Given the description of an element on the screen output the (x, y) to click on. 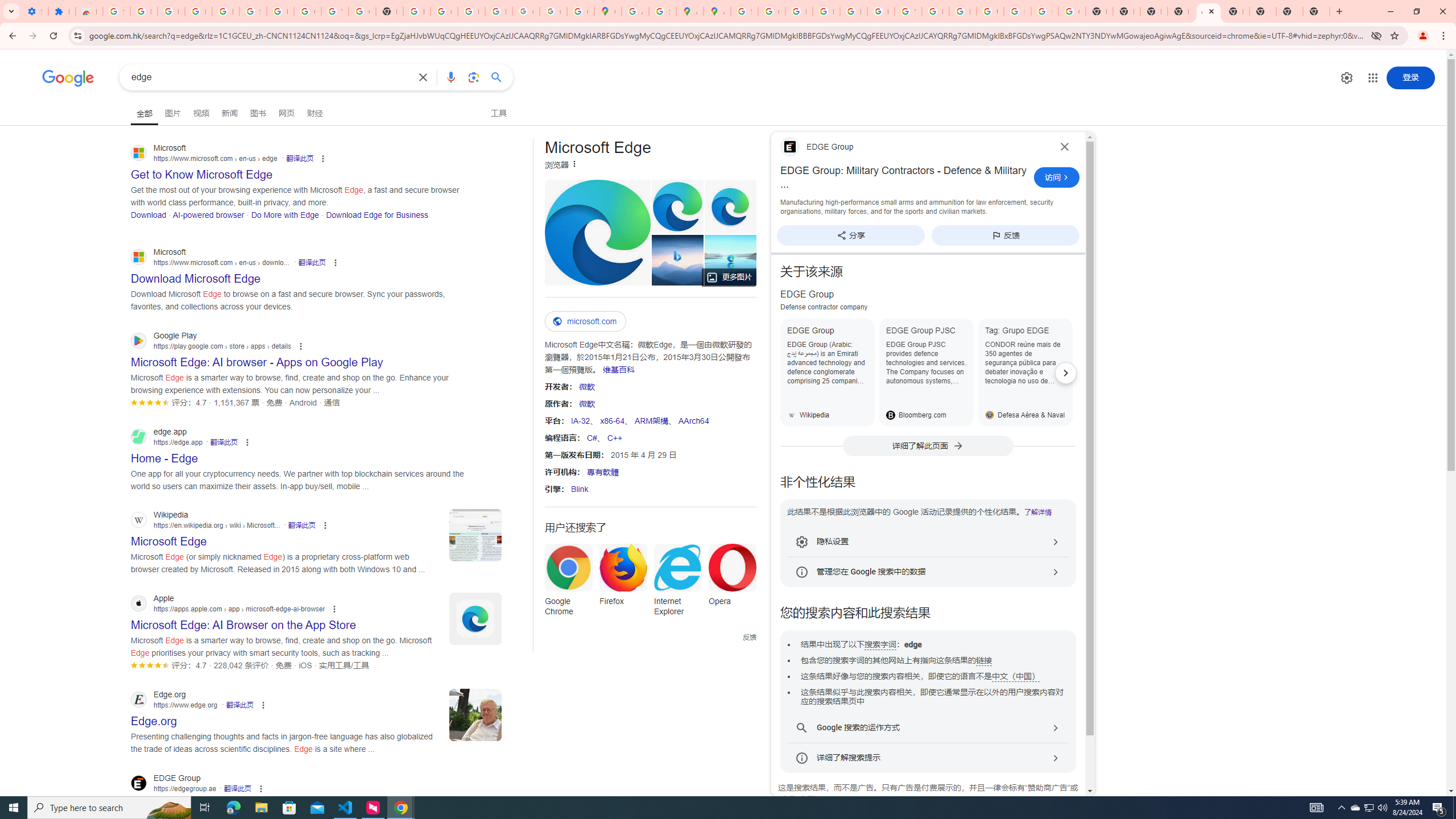
Internet Explorer (677, 583)
Google Maps (607, 11)
Google Chrome (568, 583)
 Home - Edge edge.app https://edge.app (164, 455)
Firefox (623, 578)
Sign in - Google Accounts (743, 11)
EDGE Group (827, 372)
